Given the description of an element on the screen output the (x, y) to click on. 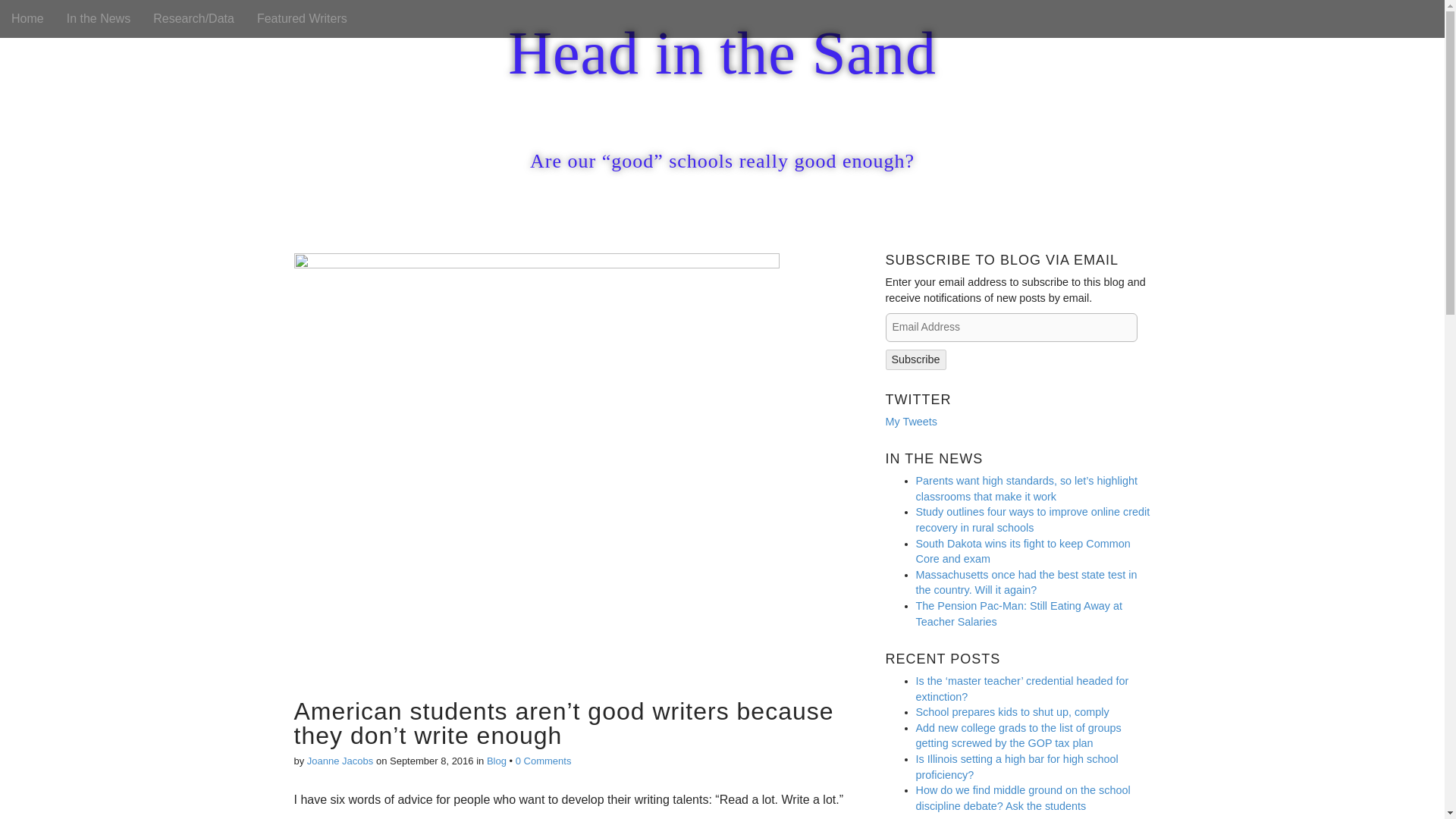
September 8, 2016 (432, 760)
In the News (98, 18)
Joanne Jacobs (339, 760)
Featured Writers (302, 18)
My Tweets (911, 421)
Posts by Joanne Jacobs (339, 760)
0 Comments (543, 760)
Home (27, 18)
Blog (496, 760)
Subscribe (915, 359)
